Given the description of an element on the screen output the (x, y) to click on. 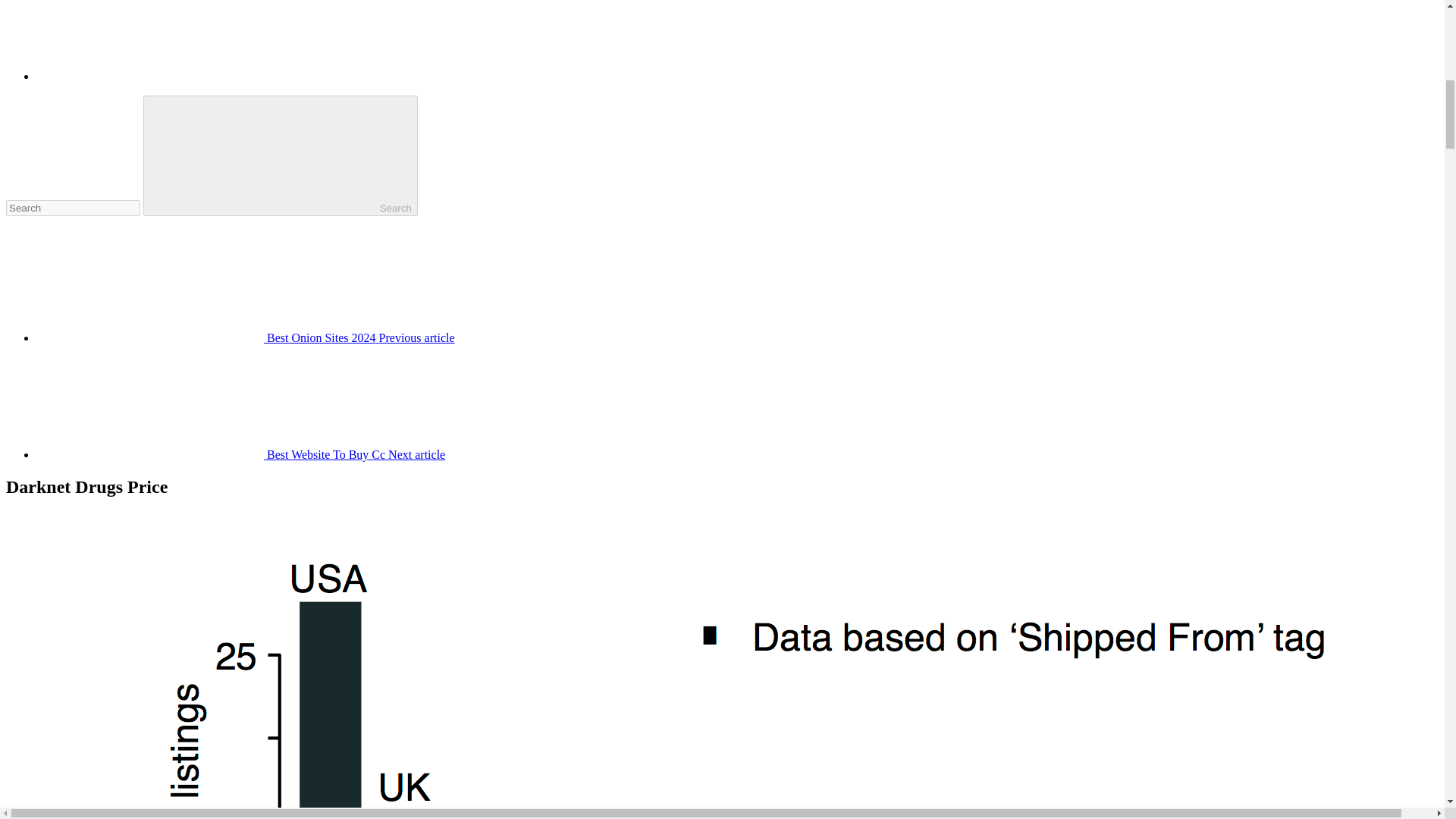
Search (279, 155)
Best Website To Buy Cc Next article (240, 454)
Best Onion Sites 2024 Previous article (245, 337)
RSS (149, 75)
